Given the description of an element on the screen output the (x, y) to click on. 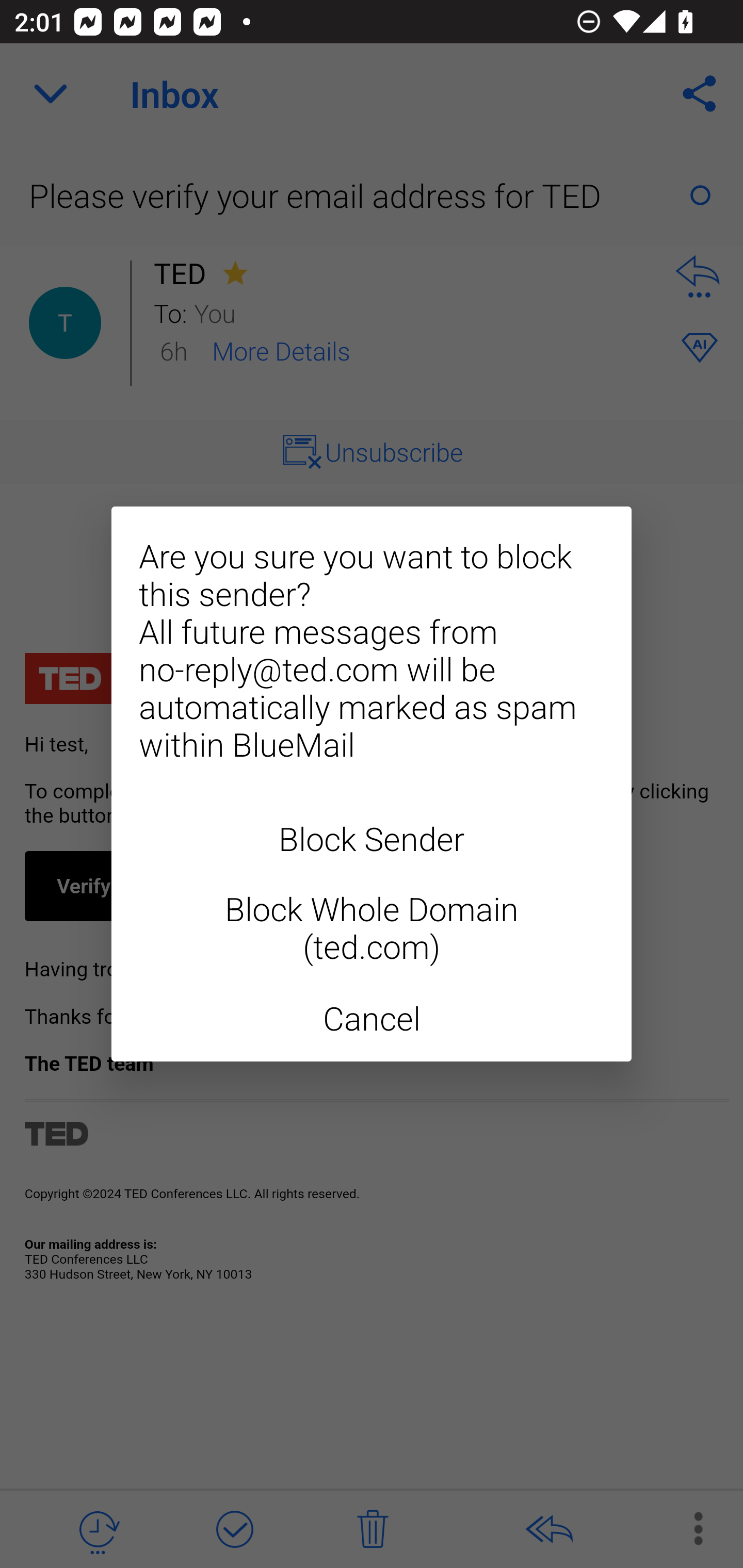
Block Sender (371, 837)
Block Whole Domain
(ted.com) (371, 927)
Cancel (371, 1018)
